Given the description of an element on the screen output the (x, y) to click on. 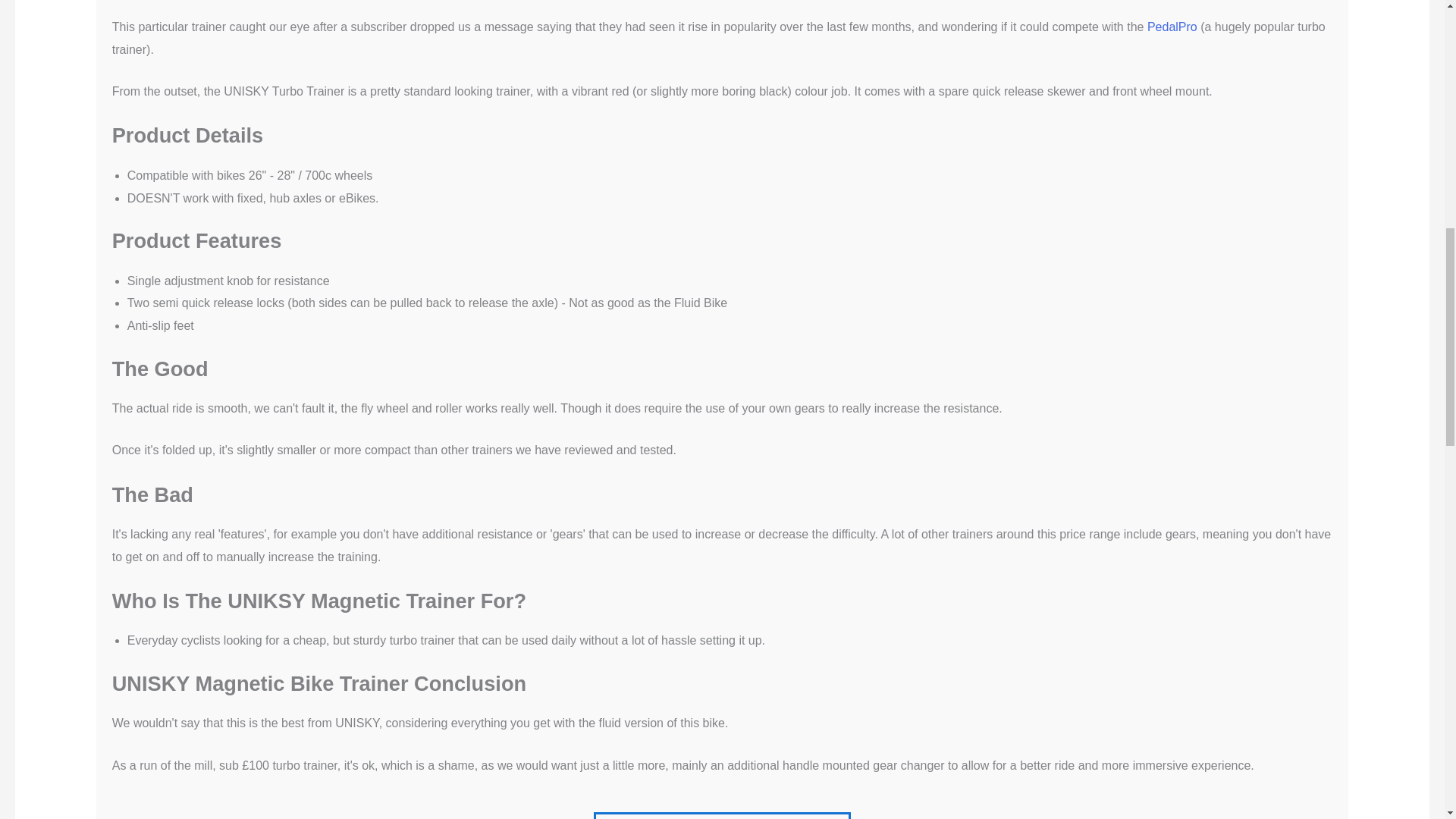
CHECK OUT THE LATEST PRICING (722, 815)
PedalPro (1173, 26)
